Given the description of an element on the screen output the (x, y) to click on. 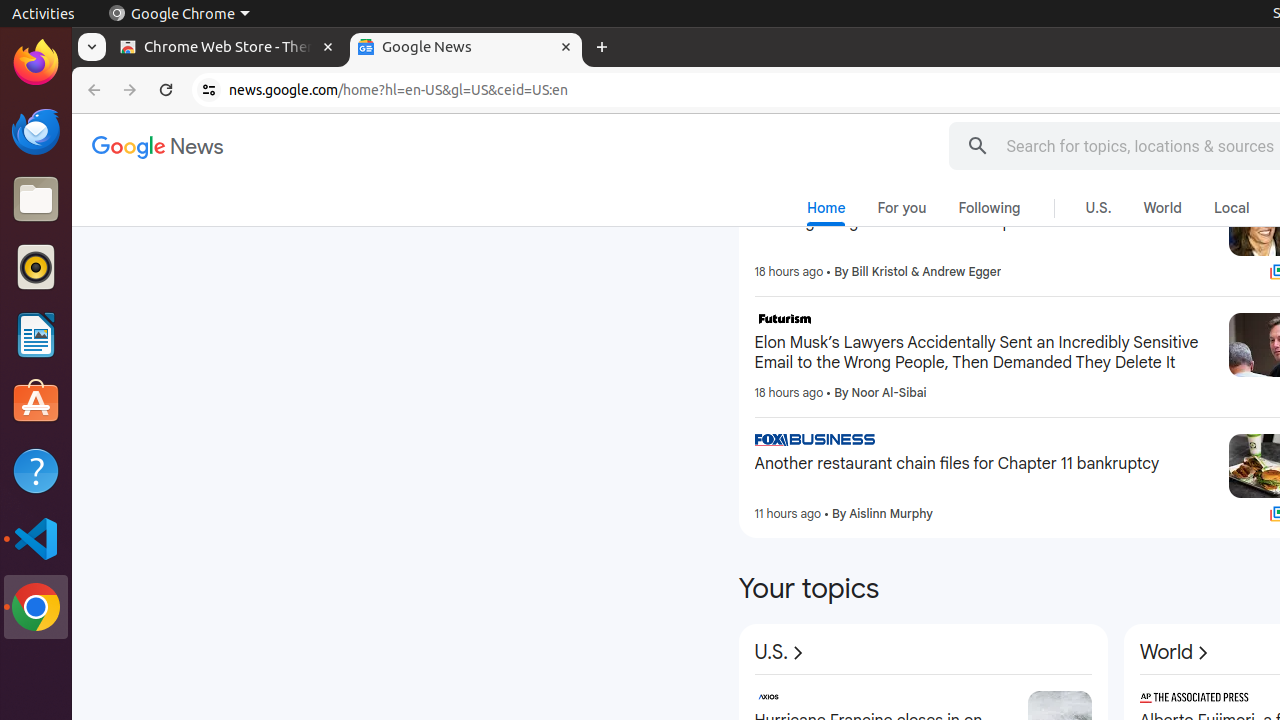
Home Element type: menu-item (826, 212)
Following Element type: menu-item (989, 208)
Google Chrome Element type: push-button (36, 607)
For you Element type: menu-item (902, 208)
Forward Element type: push-button (130, 90)
